Given the description of an element on the screen output the (x, y) to click on. 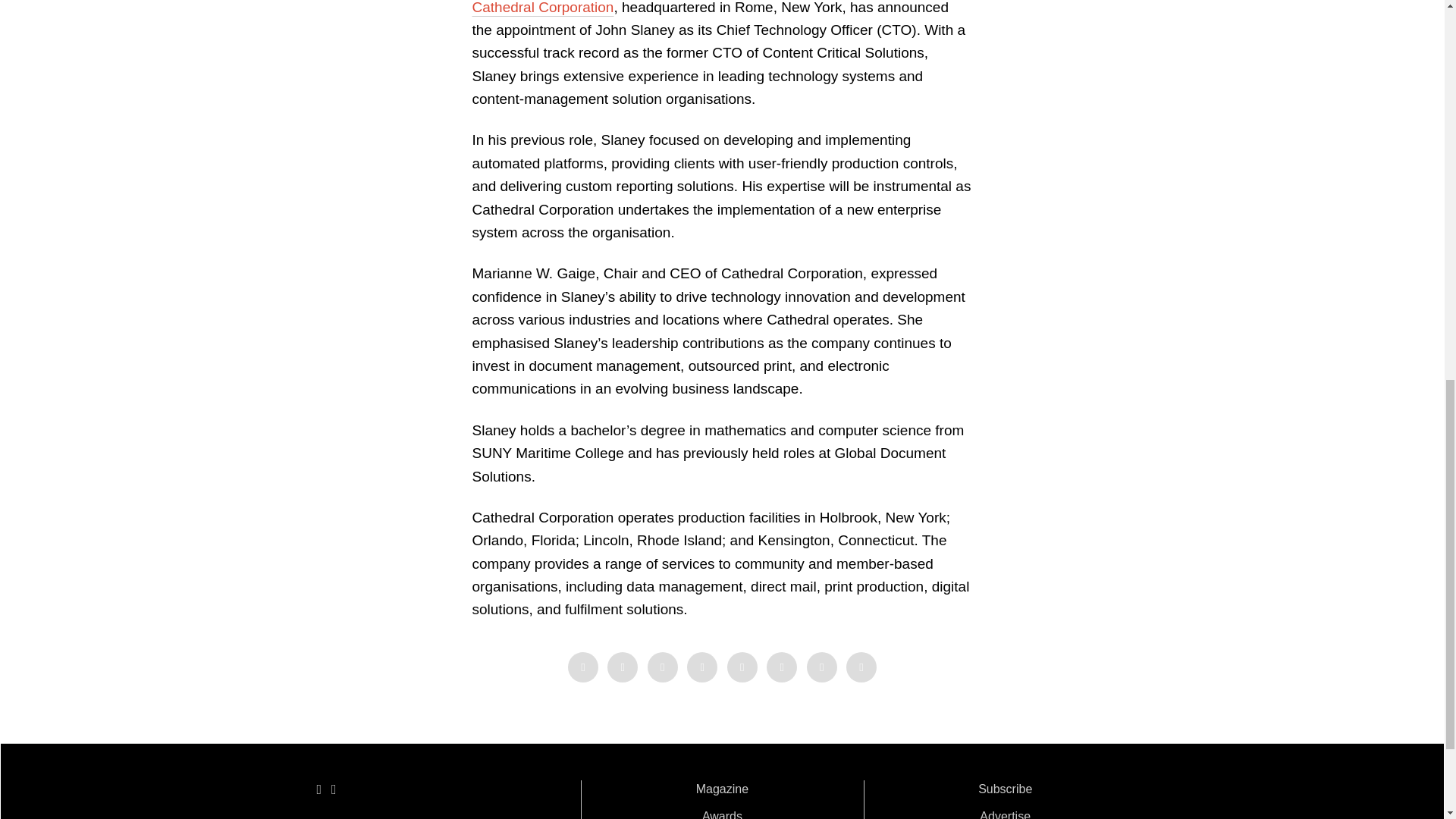
Magazine (721, 788)
Cathedral Corporation (541, 7)
Advertise (1004, 814)
Subscribe (1005, 788)
Awards (721, 814)
